Given the description of an element on the screen output the (x, y) to click on. 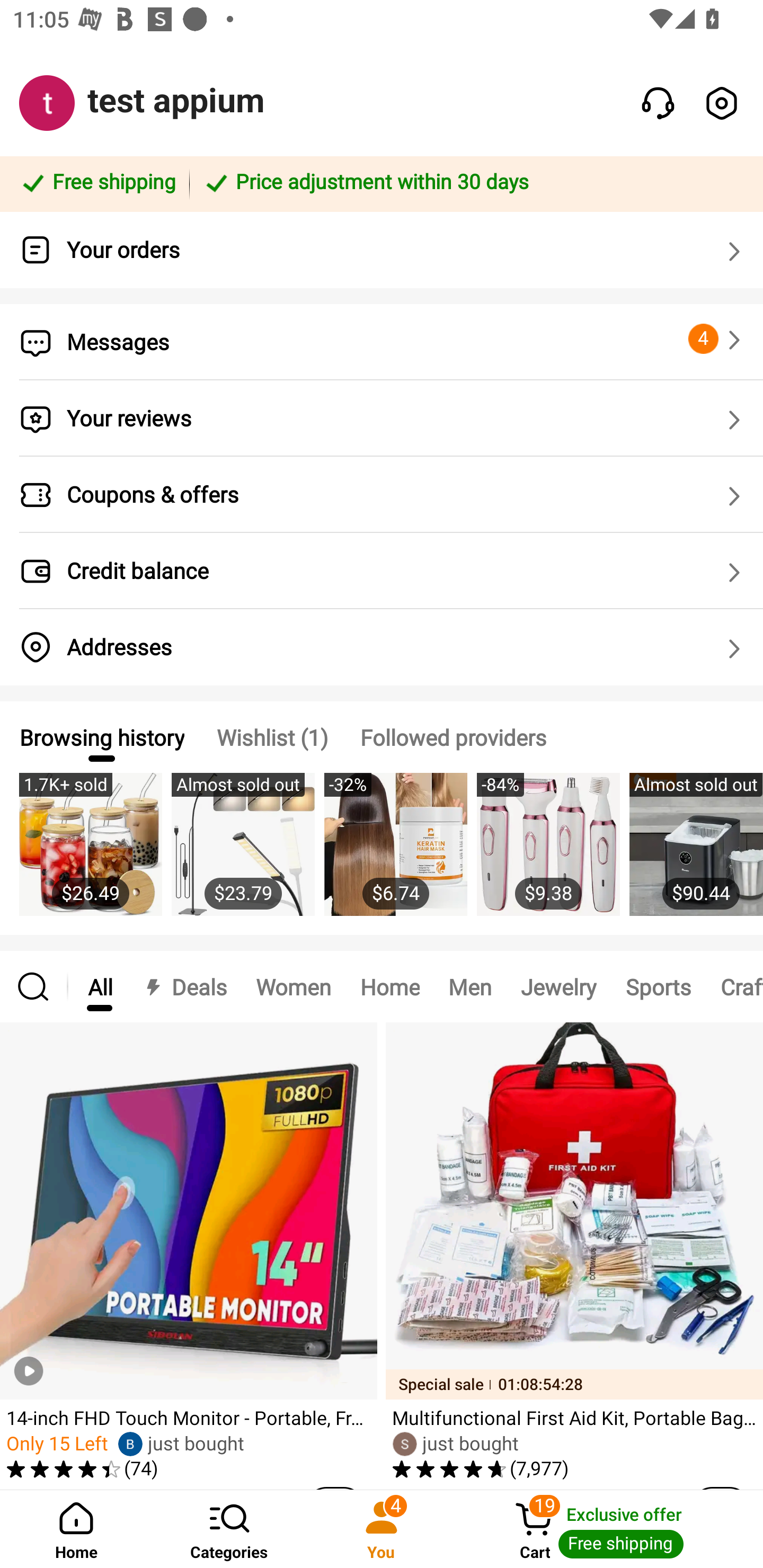
test appium (175, 100)
Free shipping (97, 183)
Price adjustment within 30 days (472, 183)
Your orders (381, 249)
Messages 4 (381, 342)
4 (717, 339)
Your reviews (381, 418)
Coupons & offers (381, 494)
Credit balance (381, 571)
Addresses (381, 647)
Browsing history (101, 736)
Wishlist (1) (271, 736)
Followed providers (453, 736)
1.7K+ sold $26.49 (90, 853)
Almost sold out $23.79 (242, 853)
-32% $6.74 (395, 853)
-84% $9.38 (547, 853)
Almost sold out $90.44 (696, 853)
All (99, 986)
Deals Deals Deals (183, 986)
Women (293, 986)
Home (389, 986)
Men (469, 986)
Jewelry (558, 986)
Sports (658, 986)
Home (76, 1528)
Categories (228, 1528)
You 4 You (381, 1528)
Cart 19 Cart Exclusive offer (610, 1528)
